Given the description of an element on the screen output the (x, y) to click on. 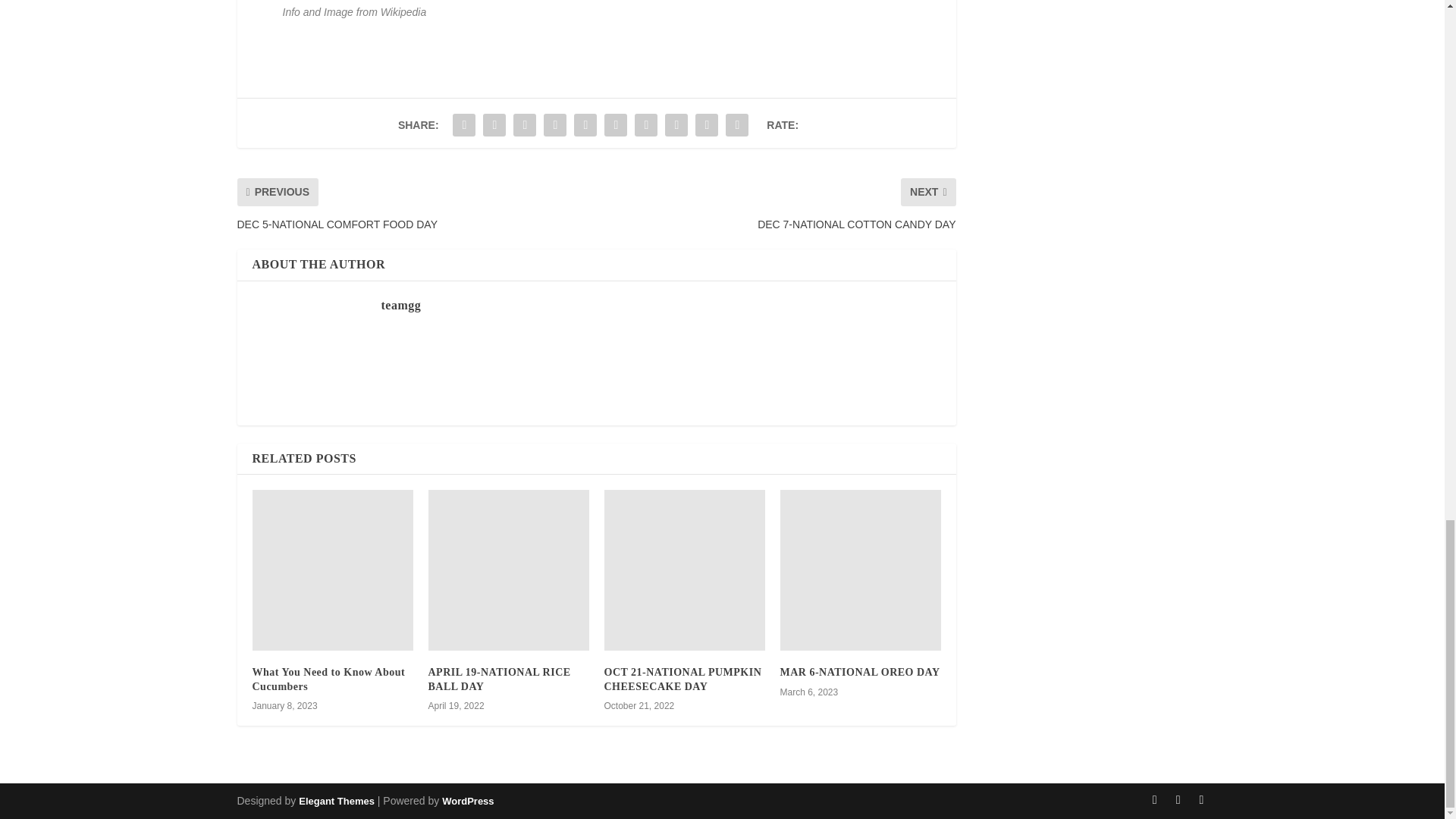
teamgg (400, 305)
Share "DEC 6-NATIONAL GAZPACHO DAY" via LinkedIn (614, 124)
OCT 21-NATIONAL PUMPKIN CHEESECAKE DAY (682, 678)
MAR 6-NATIONAL OREO DAY (858, 672)
Share "DEC 6-NATIONAL GAZPACHO DAY" via Buffer (645, 124)
Share "DEC 6-NATIONAL GAZPACHO DAY" via Twitter (494, 124)
WordPress (467, 800)
What You Need to Know About Cucumbers (327, 678)
APRIL 19-NATIONAL RICE BALL DAY (508, 569)
APRIL 19-NATIONAL RICE BALL DAY (499, 678)
Share "DEC 6-NATIONAL GAZPACHO DAY" via Tumblr (555, 124)
Elegant Themes (336, 800)
Share "DEC 6-NATIONAL GAZPACHO DAY" via Email (706, 124)
View all posts by teamgg (400, 305)
Share "DEC 6-NATIONAL GAZPACHO DAY" via Pinterest (584, 124)
